Given the description of an element on the screen output the (x, y) to click on. 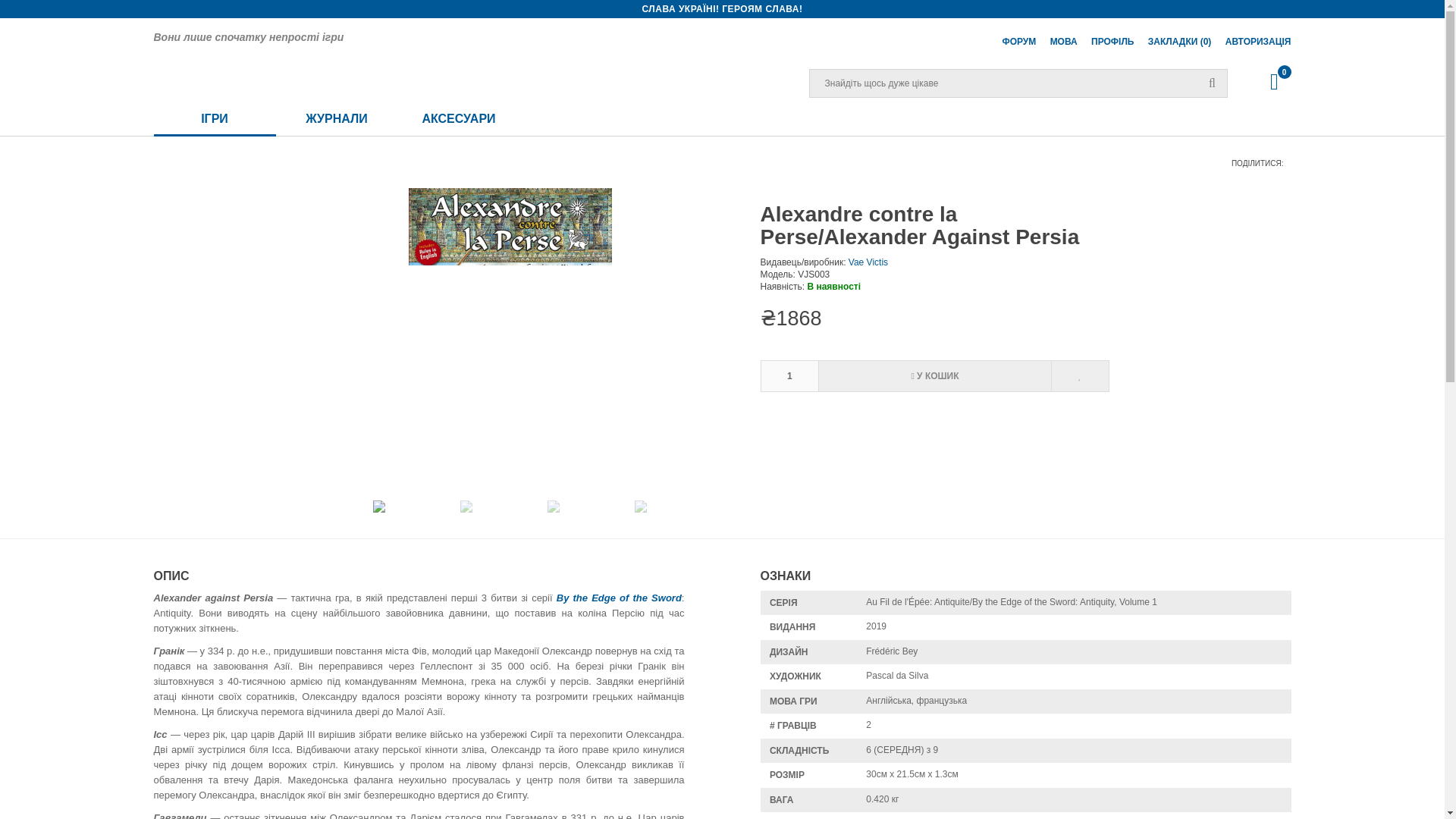
0 (1273, 81)
1 (789, 376)
Vae Victis (868, 262)
By the Edge of the Sword (618, 597)
